Given the description of an element on the screen output the (x, y) to click on. 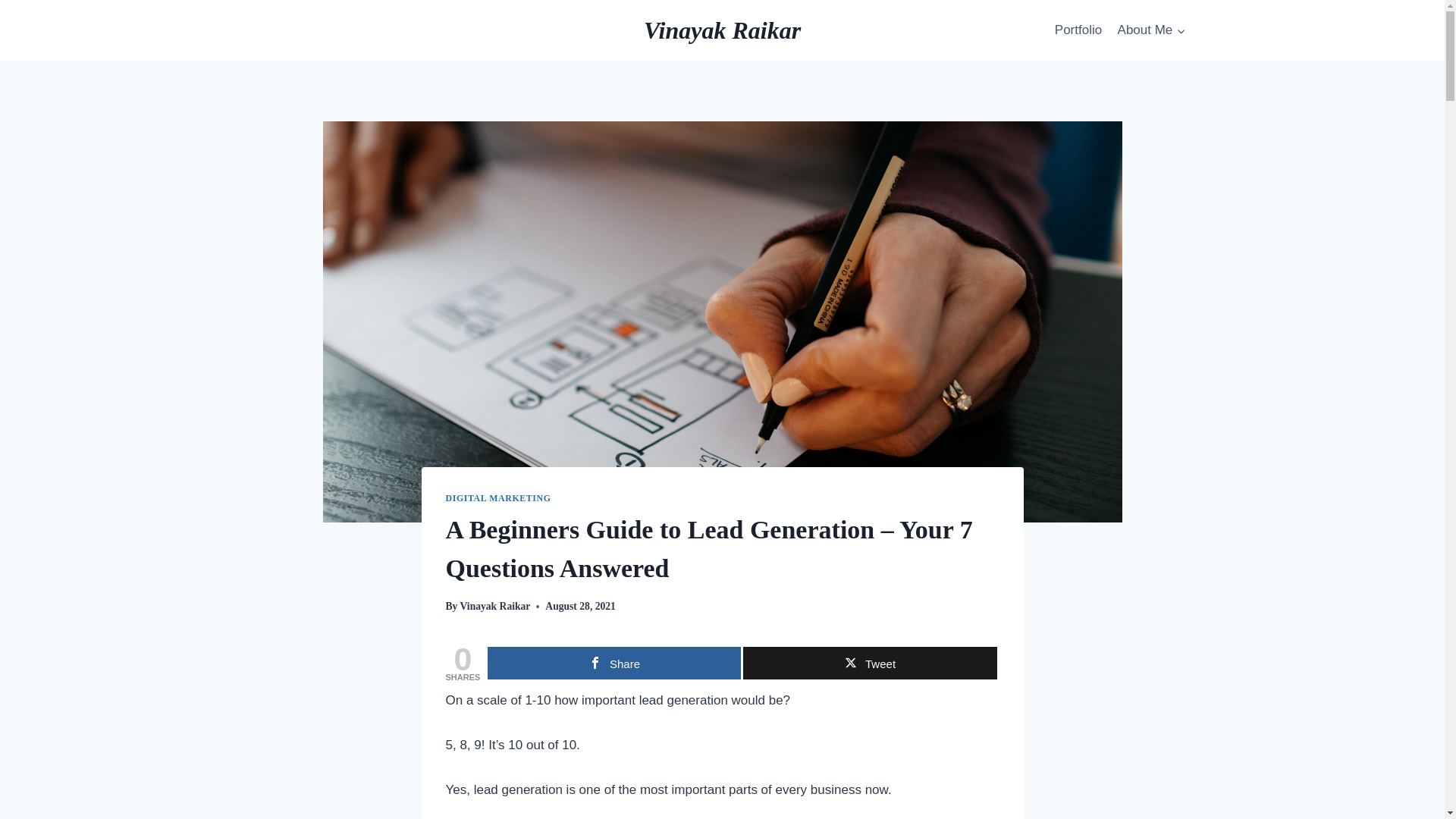
Share (614, 663)
Tweet (868, 663)
Vinayak Raikar (721, 30)
DIGITAL MARKETING (498, 498)
About Me (1150, 30)
Vinayak Raikar (495, 605)
Portfolio (1077, 30)
